Given the description of an element on the screen output the (x, y) to click on. 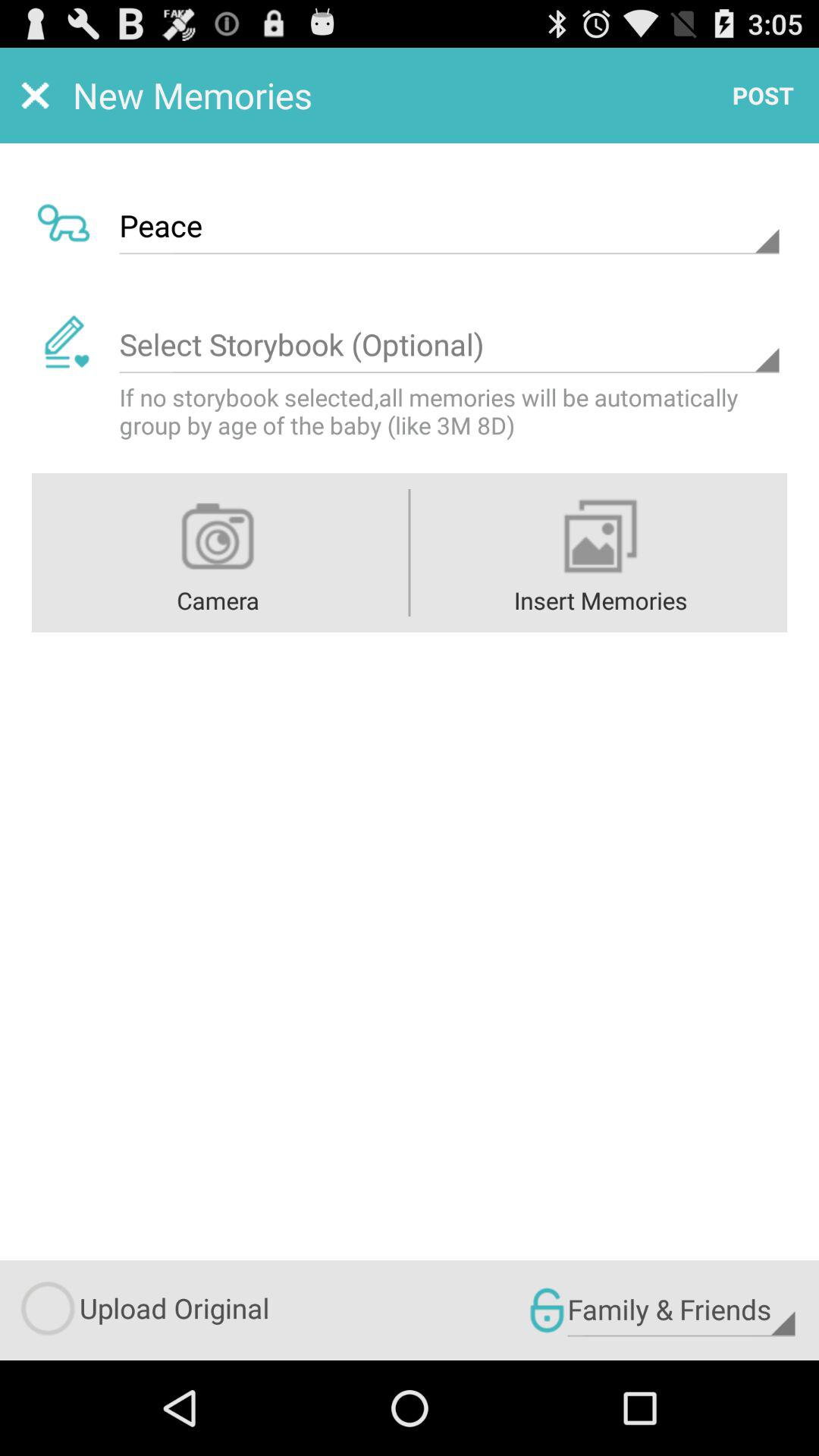
select storybook option (449, 345)
